Given the description of an element on the screen output the (x, y) to click on. 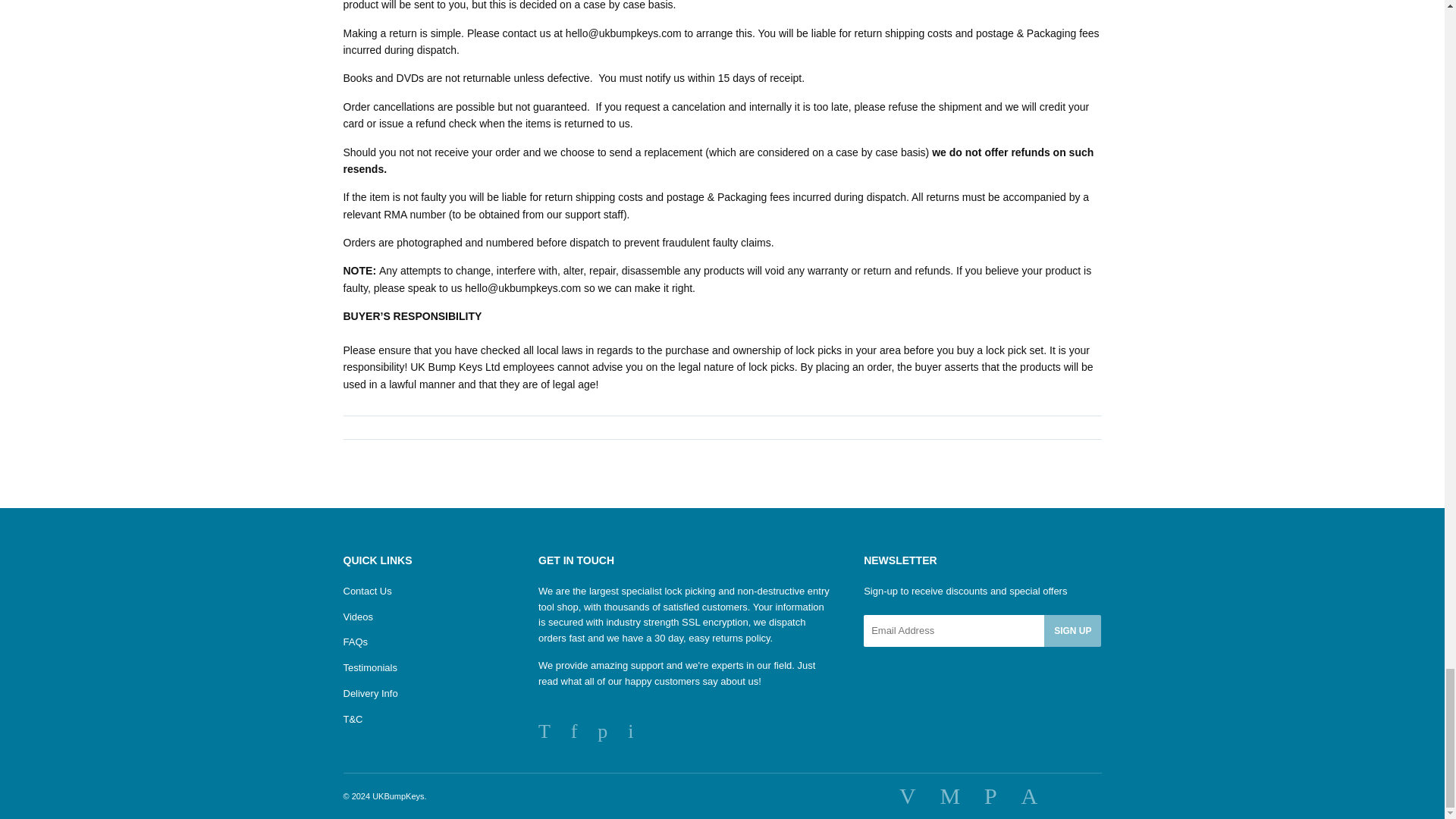
Sign Up (1071, 631)
UKBumpKeys on Twitter (544, 734)
